Given the description of an element on the screen output the (x, y) to click on. 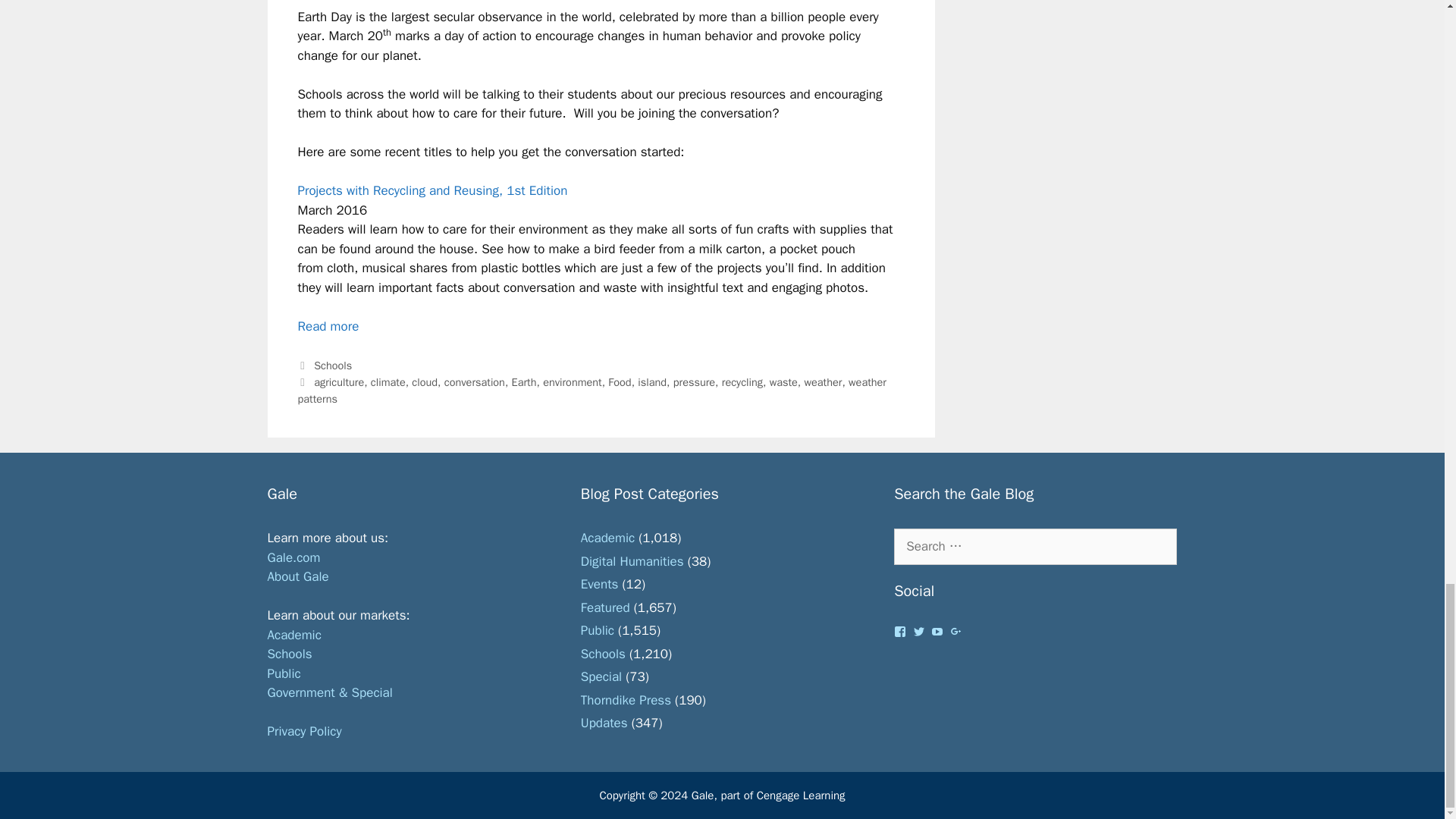
Search for: (1034, 546)
Earth Day 2016: What will you be studying? (327, 326)
